Given the description of an element on the screen output the (x, y) to click on. 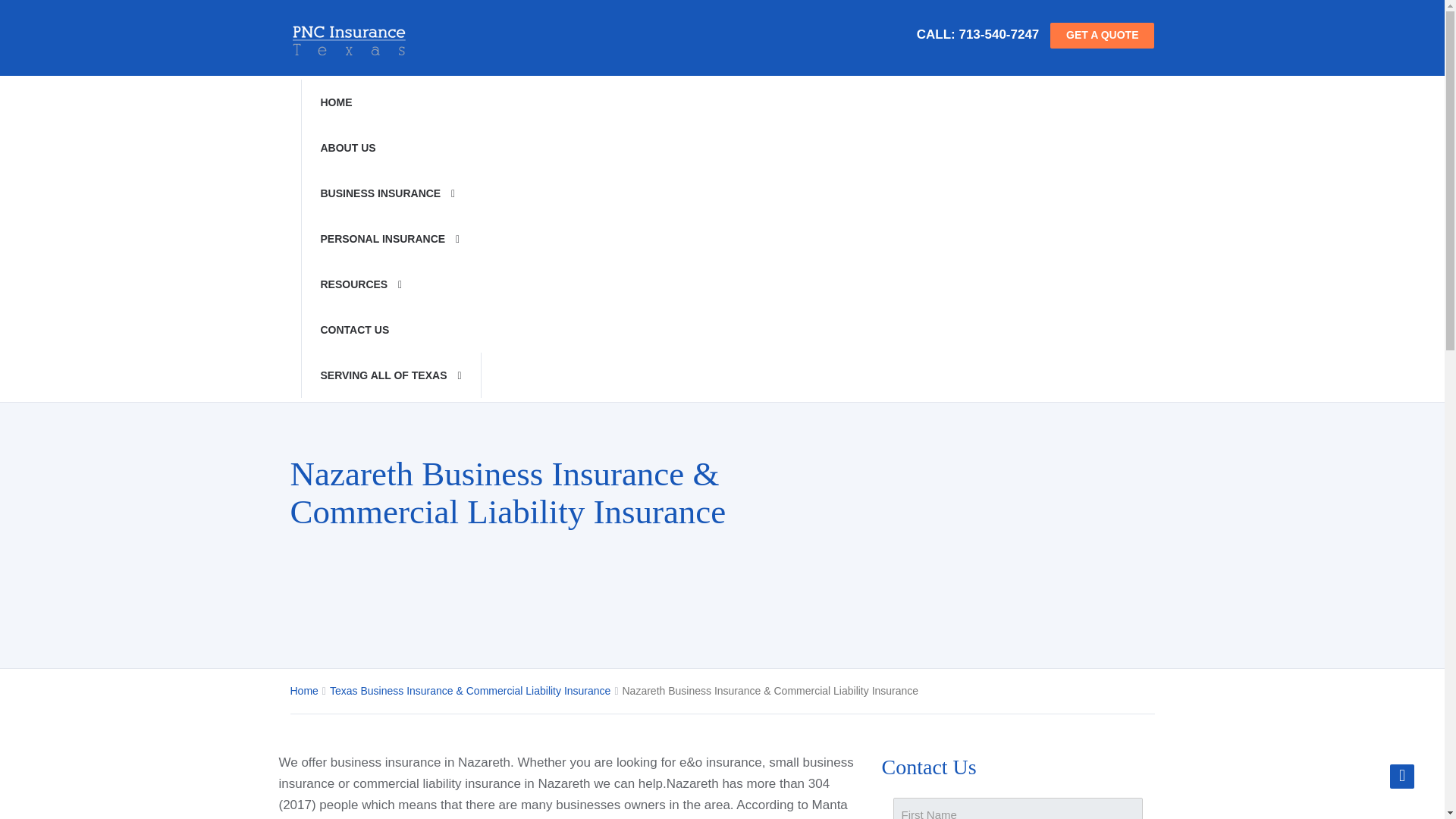
GET A QUOTE (1101, 35)
Business Insurance (389, 193)
713-540-7247 (998, 34)
Home (389, 102)
Get a Quote (1101, 35)
BUSINESS INSURANCE (389, 193)
PERSONAL INSURANCE (389, 238)
SERVING ALL OF TEXAS (389, 375)
ABOUT US (389, 147)
CONTACT US (389, 329)
About US (389, 147)
RESOURCES (389, 284)
HOME (389, 102)
